Given the description of an element on the screen output the (x, y) to click on. 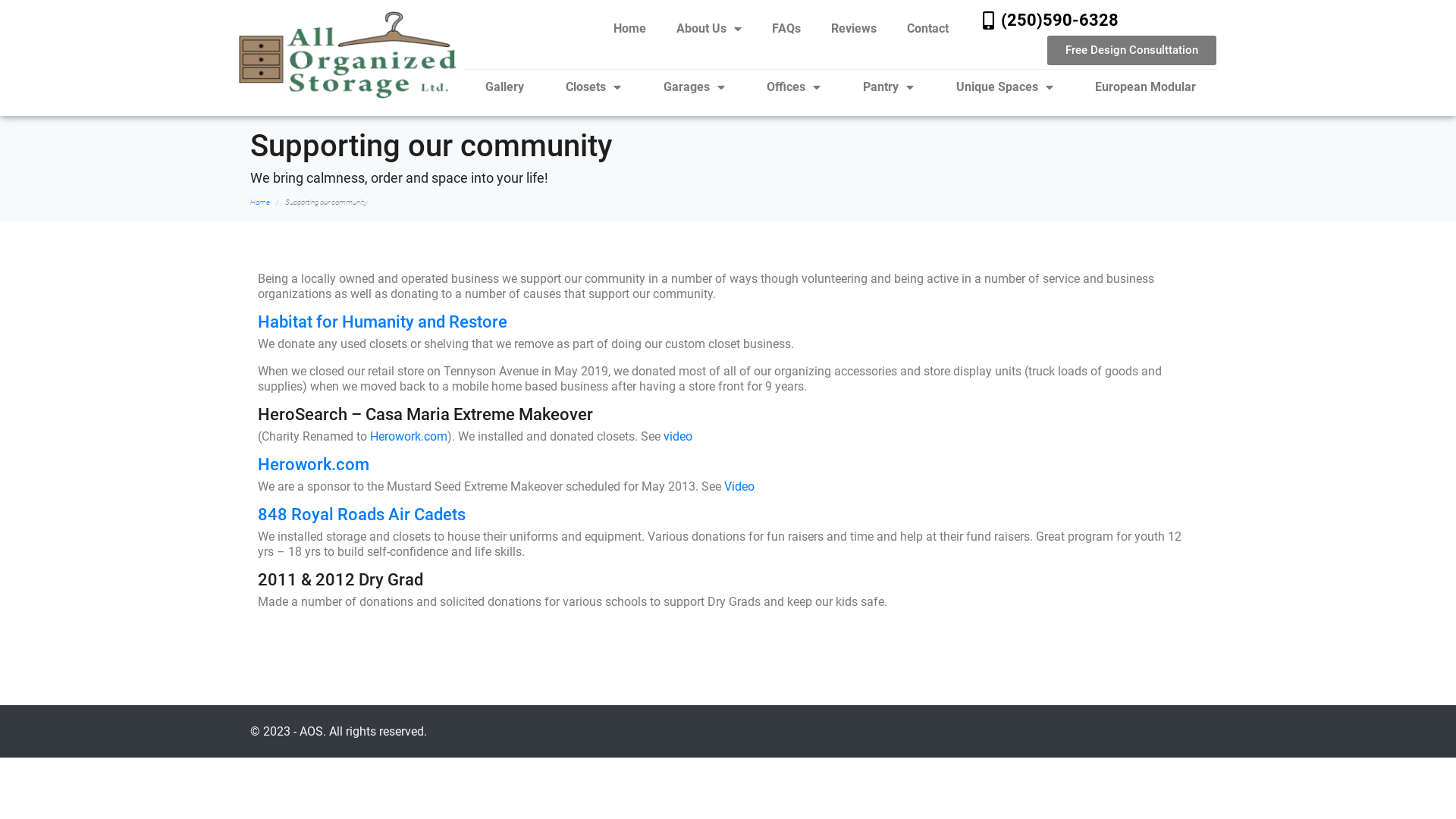
About Us Element type: text (708, 28)
Closets Element type: text (593, 86)
FAQs Element type: text (785, 28)
Garages Element type: text (694, 86)
Habitat for Humanity and Restore Element type: text (382, 321)
Reviews Element type: text (853, 28)
Pantry Element type: text (888, 86)
Offices Element type: text (794, 86)
848 Royal Roads Air Cadets Element type: text (361, 514)
Home Element type: text (259, 201)
Herowork.com Element type: text (313, 464)
Unique Spaces Element type: text (1004, 86)
Contact Element type: text (927, 28)
European Modular Element type: text (1145, 86)
video Element type: text (677, 436)
(250)590-6328 Element type: text (1059, 19)
Herowork.com Element type: text (408, 436)
Video Element type: text (739, 486)
Free Design Consulttation Element type: text (1131, 50)
Gallery Element type: text (504, 86)
Home Element type: text (629, 28)
